Given the description of an element on the screen output the (x, y) to click on. 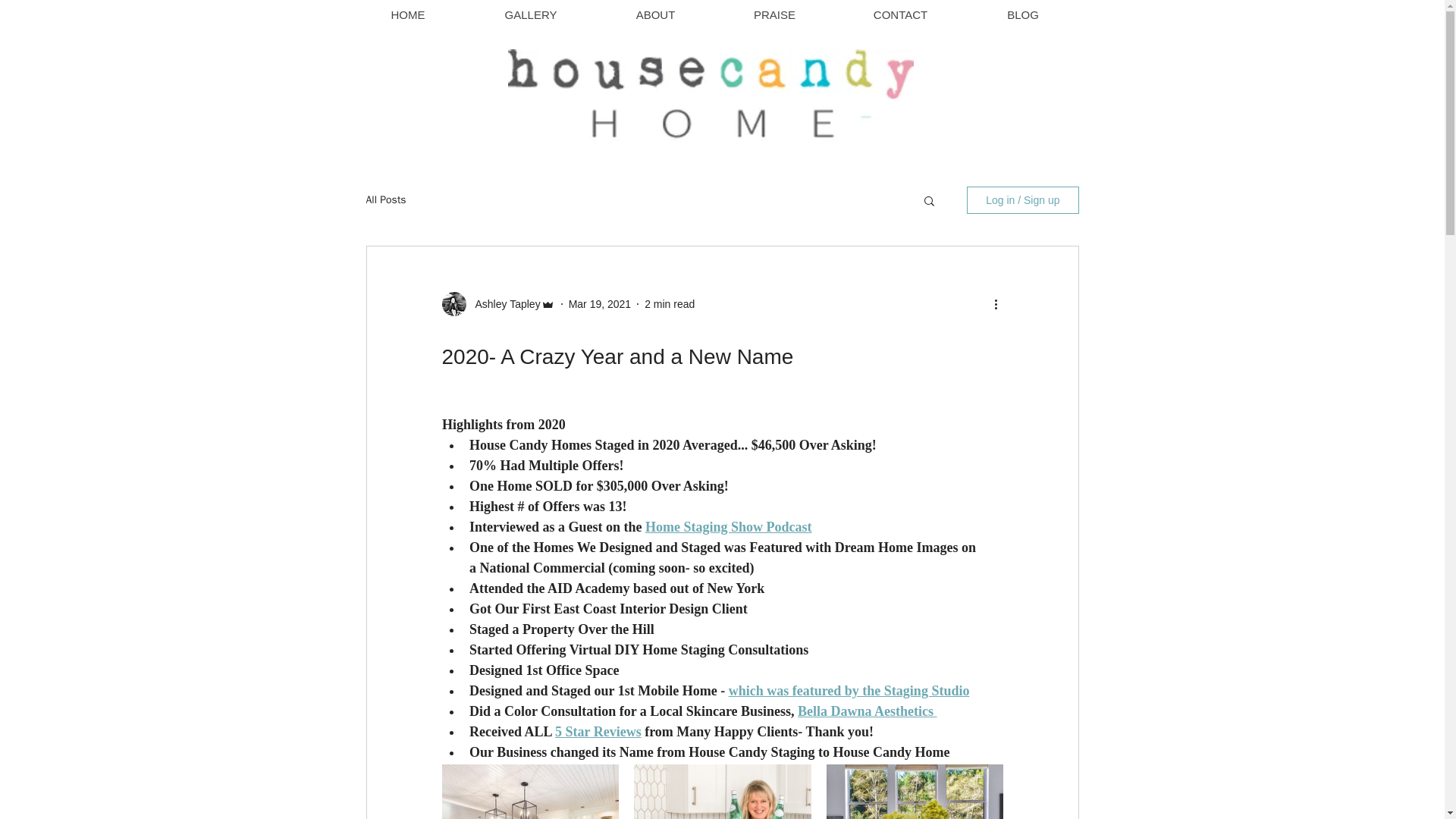
All Posts (385, 200)
Home Staging Show Podcast (727, 526)
BLOG (1022, 15)
which was featured by the Staging Studio (848, 690)
2 min read (669, 303)
Bella Dawna Aesthetics (865, 711)
ABOUT (654, 15)
HOME (407, 15)
PRAISE (773, 15)
GALLERY (530, 15)
Mar 19, 2021 (600, 303)
CONTACT (900, 15)
5 Star Reviews (598, 731)
Ashley Tapley (502, 303)
